Given the description of an element on the screen output the (x, y) to click on. 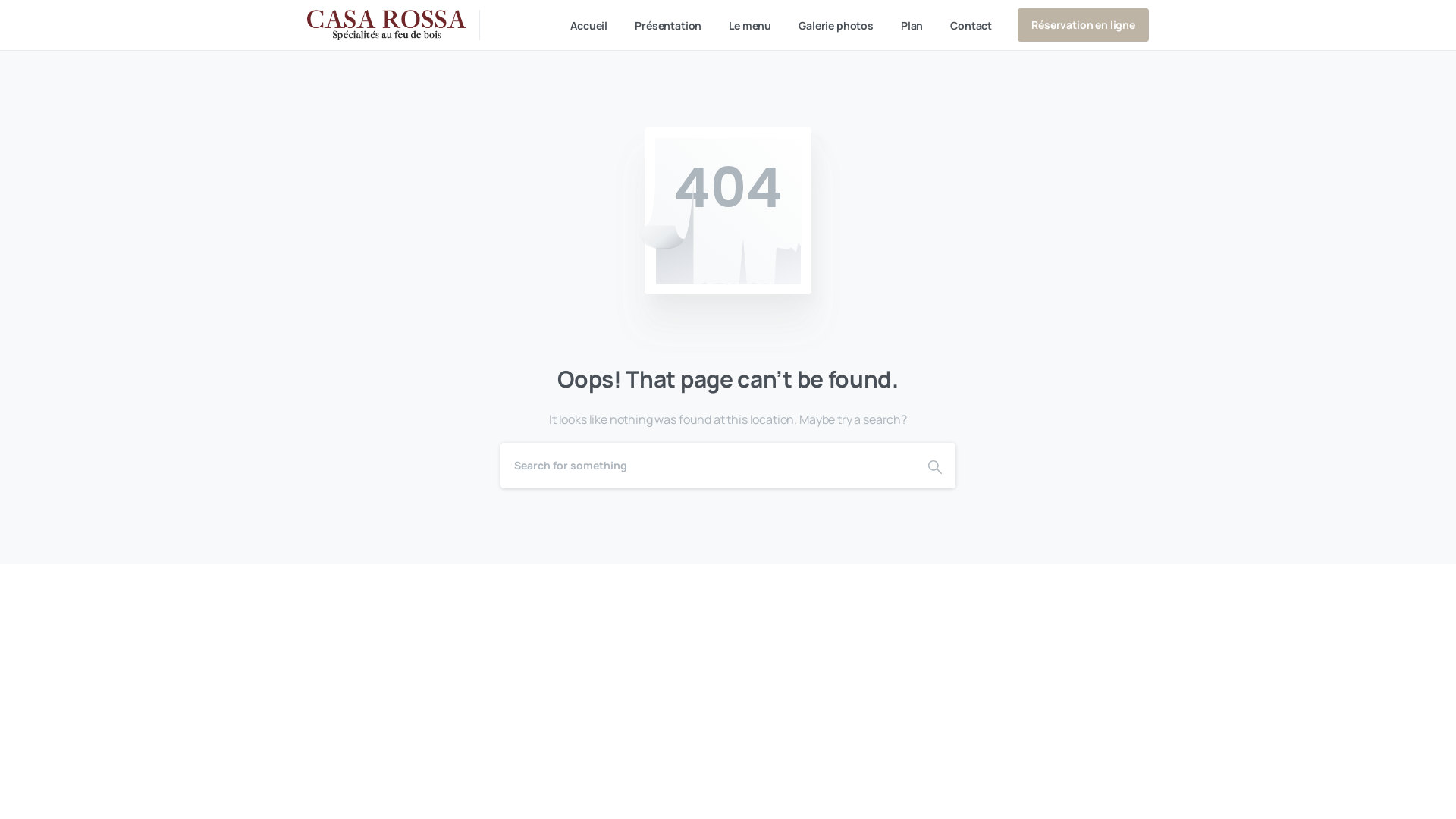
Accueil Element type: text (588, 25)
Shape Element type: text (934, 465)
Plan Element type: text (911, 25)
Le menu Element type: text (749, 25)
Contact Element type: text (970, 25)
Galerie photos Element type: text (835, 25)
